Given the description of an element on the screen output the (x, y) to click on. 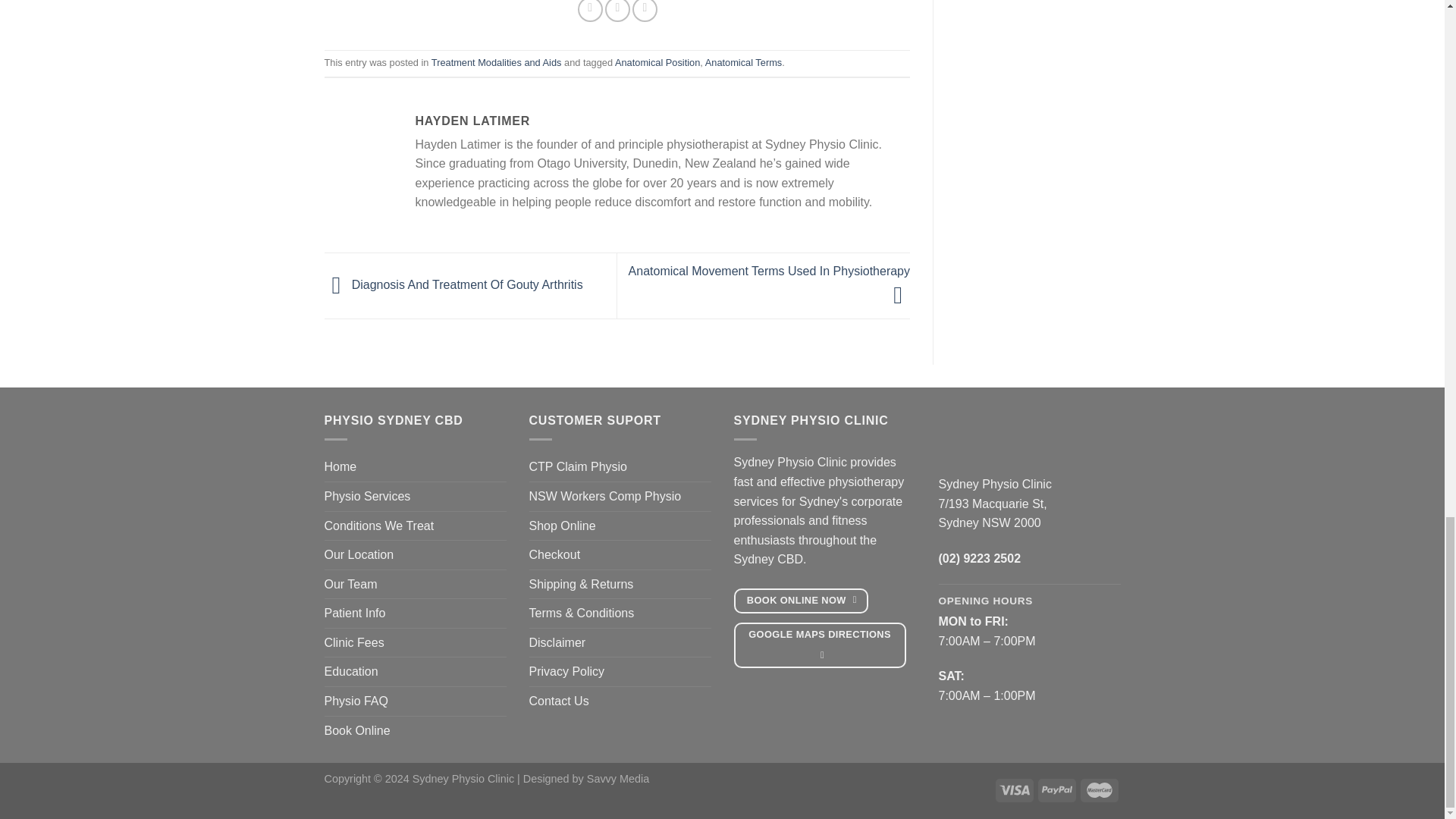
Email to a Friend (617, 11)
Pin on Pinterest (644, 11)
Share on Facebook (590, 11)
